Given the description of an element on the screen output the (x, y) to click on. 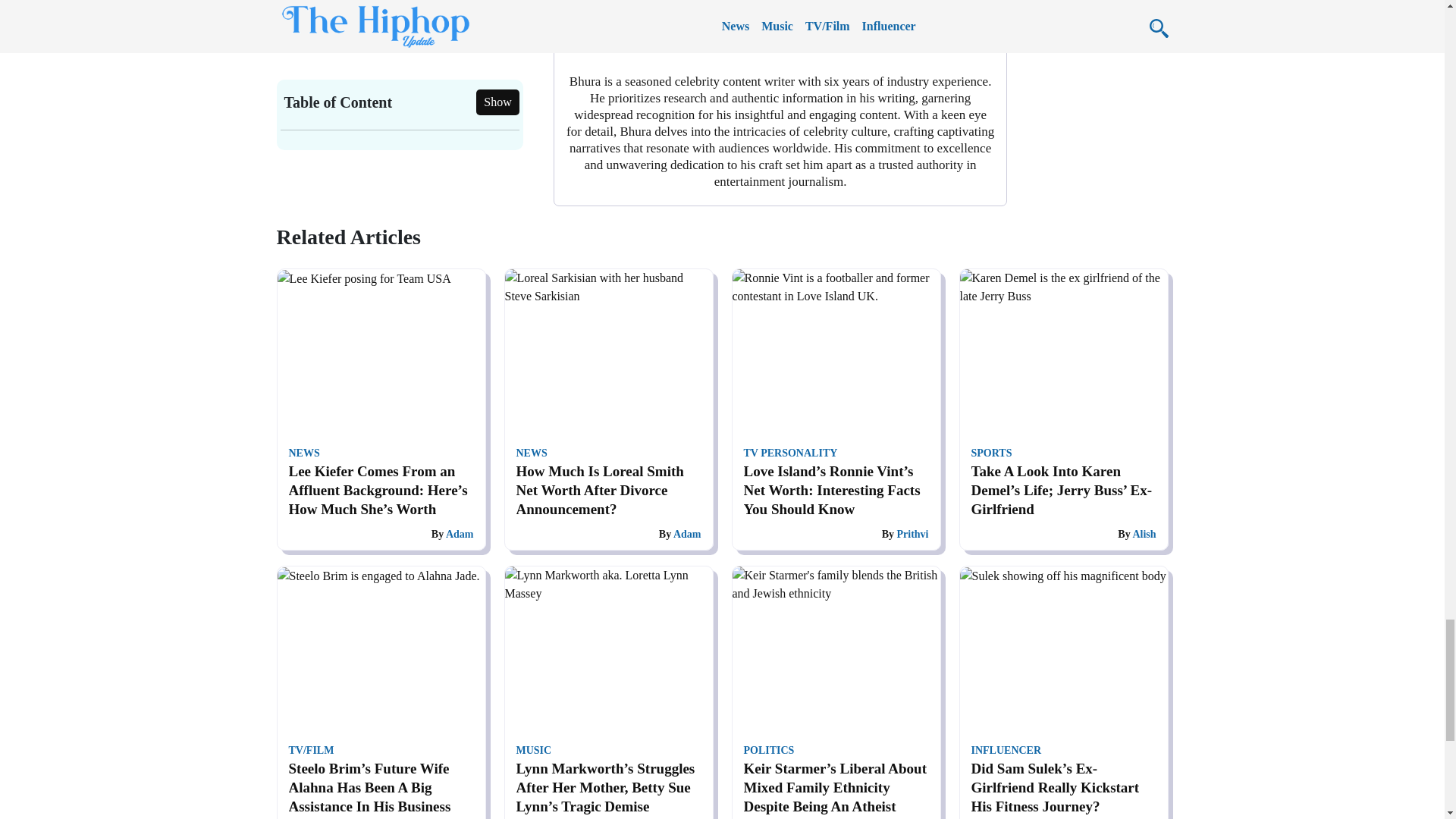
Adam (686, 533)
NEWS (303, 452)
NEWS (531, 452)
Adam (459, 533)
TV PERSONALITY (789, 452)
